Given the description of an element on the screen output the (x, y) to click on. 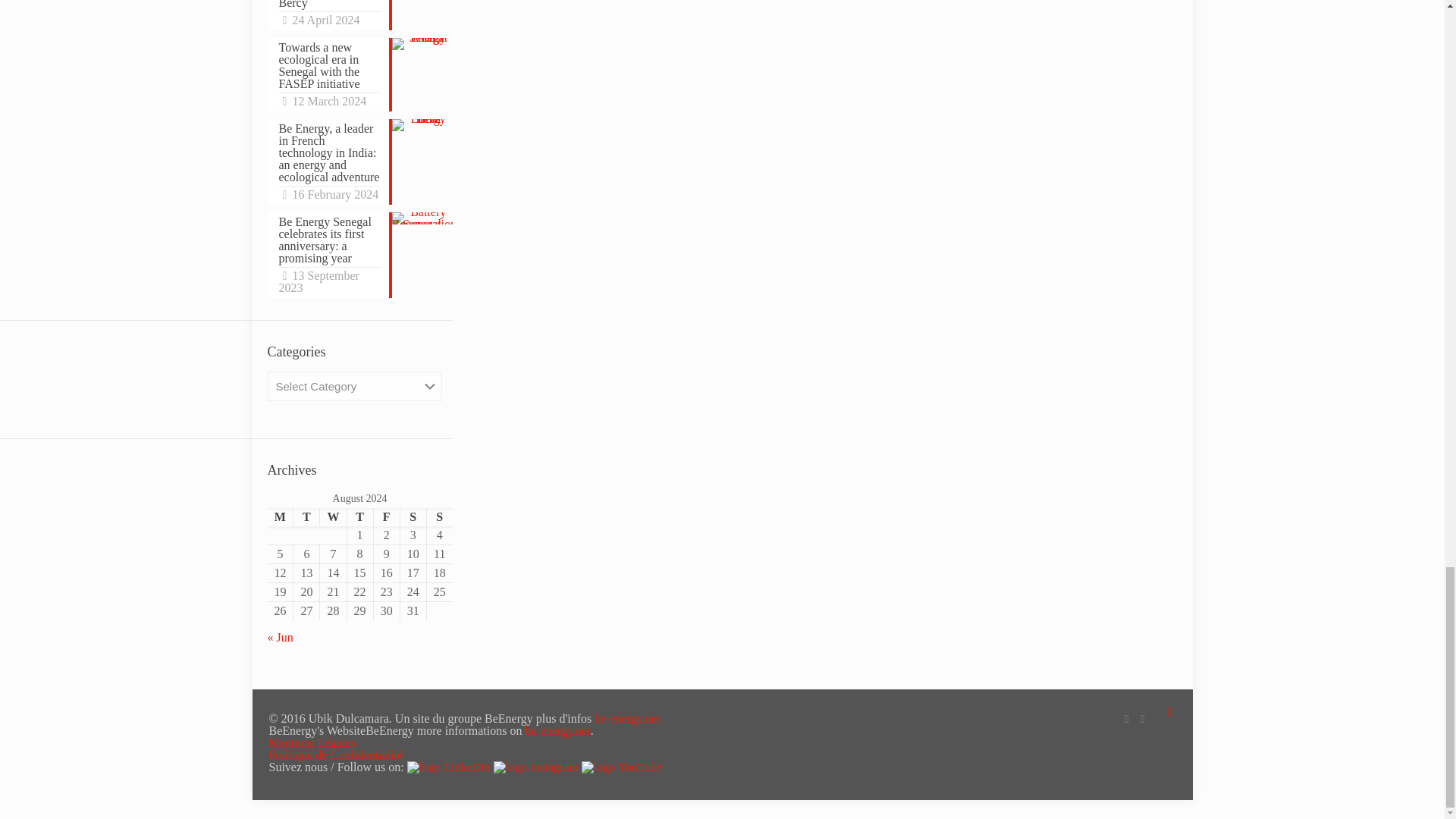
Tuesday (307, 516)
Thursday (359, 516)
Monday (279, 516)
Friday (385, 516)
Saturday (412, 516)
Wednesday (333, 516)
